Given the description of an element on the screen output the (x, y) to click on. 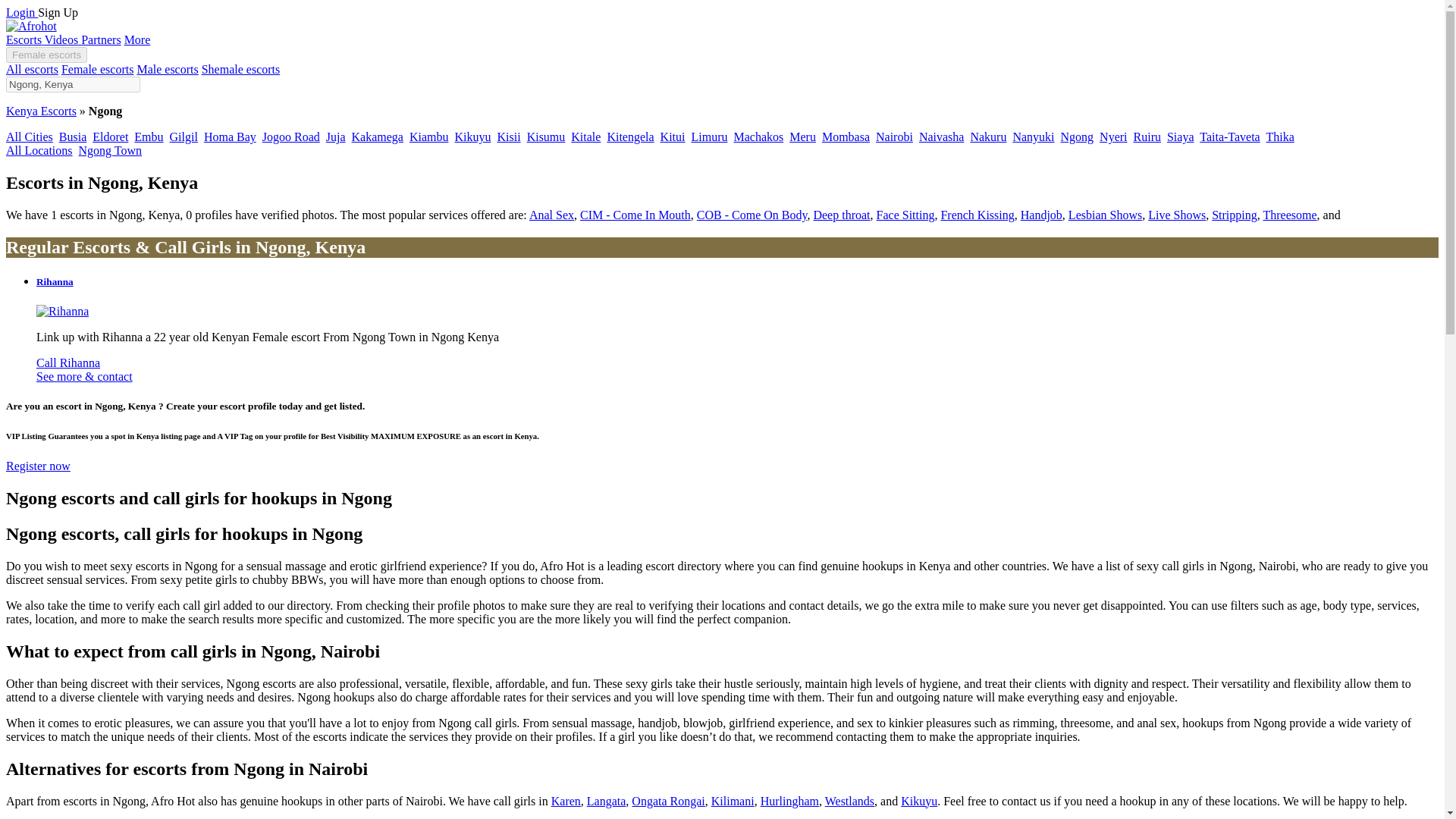
Male escorts (167, 69)
Kisii (509, 136)
Ngong (1077, 136)
Shemale escorts (241, 69)
More (137, 39)
Nairobi (894, 136)
Kikuyu (473, 136)
Nakuru (987, 136)
Gilgil (184, 136)
Limuru (708, 136)
Partners (100, 39)
Login (21, 11)
Homa Bay (229, 136)
All escorts (31, 69)
Kisumu (546, 136)
